Given the description of an element on the screen output the (x, y) to click on. 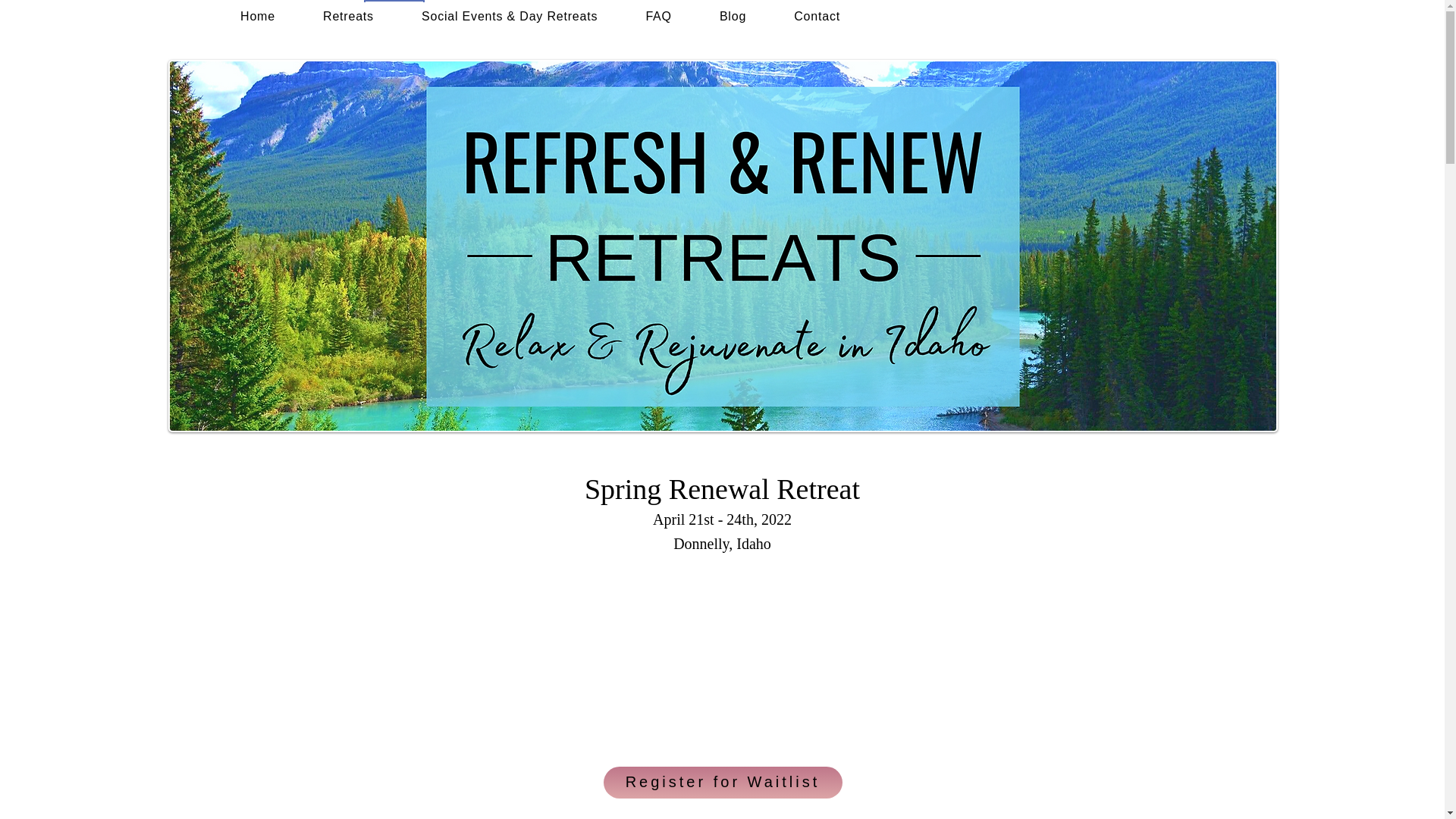
Register for Waitlist (723, 782)
Blog (732, 16)
Home (258, 16)
Contact (817, 16)
Retreats (347, 16)
FAQ (658, 16)
